Given the description of an element on the screen output the (x, y) to click on. 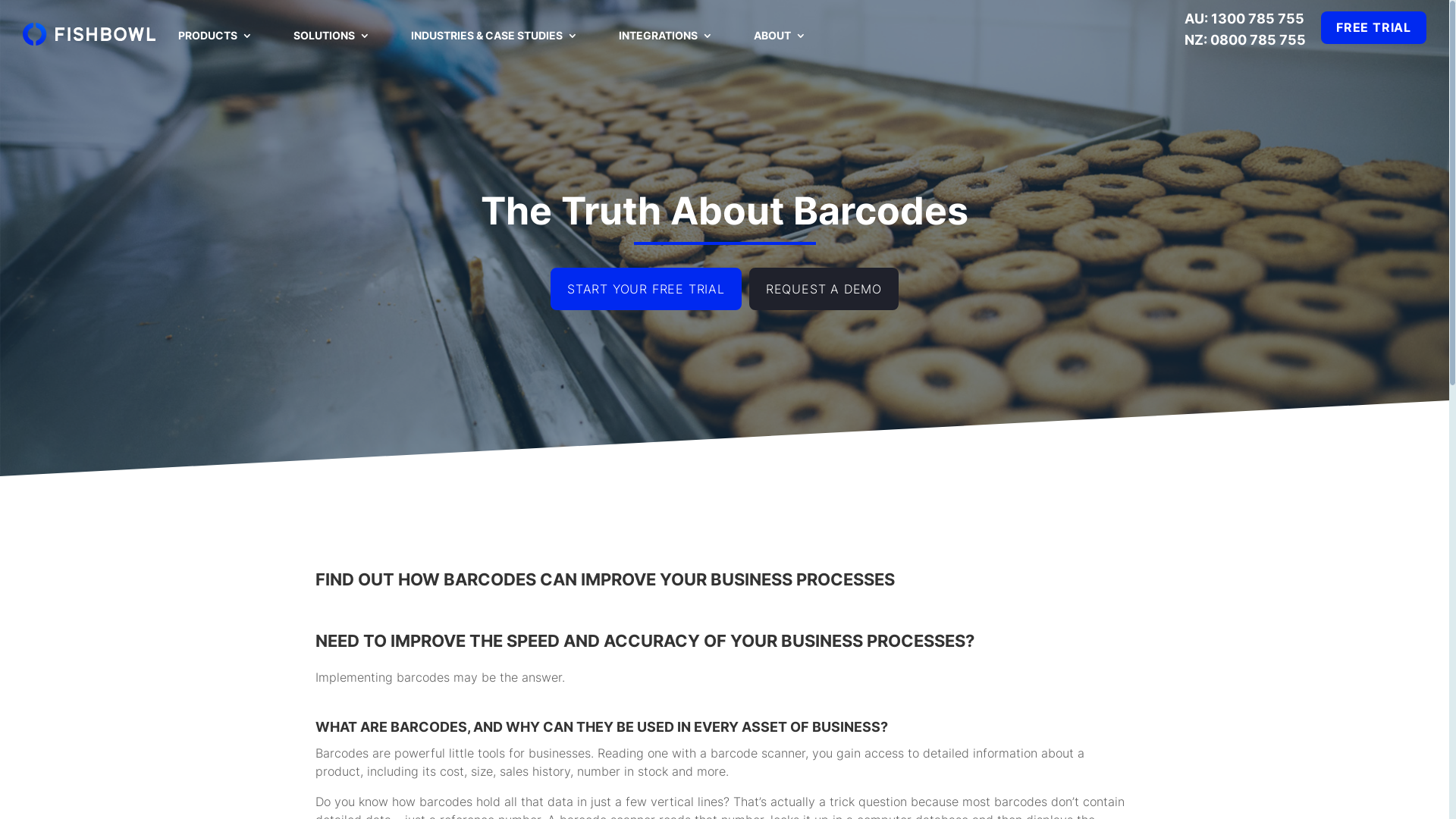
AU: 1300 785 755 Element type: text (1244, 18)
SOLUTIONS Element type: text (331, 44)
ABOUT Element type: text (779, 44)
NZ: 0800 785 755 Element type: text (1244, 39)
INTEGRATIONS Element type: text (665, 44)
INDUSTRIES & CASE STUDIES Element type: text (494, 44)
START YOUR FREE TRIAL Element type: text (645, 288)
PRODUCTS Element type: text (215, 44)
REQUEST A DEMO Element type: text (823, 288)
FREE TRIAL Element type: text (1373, 27)
